Given the description of an element on the screen output the (x, y) to click on. 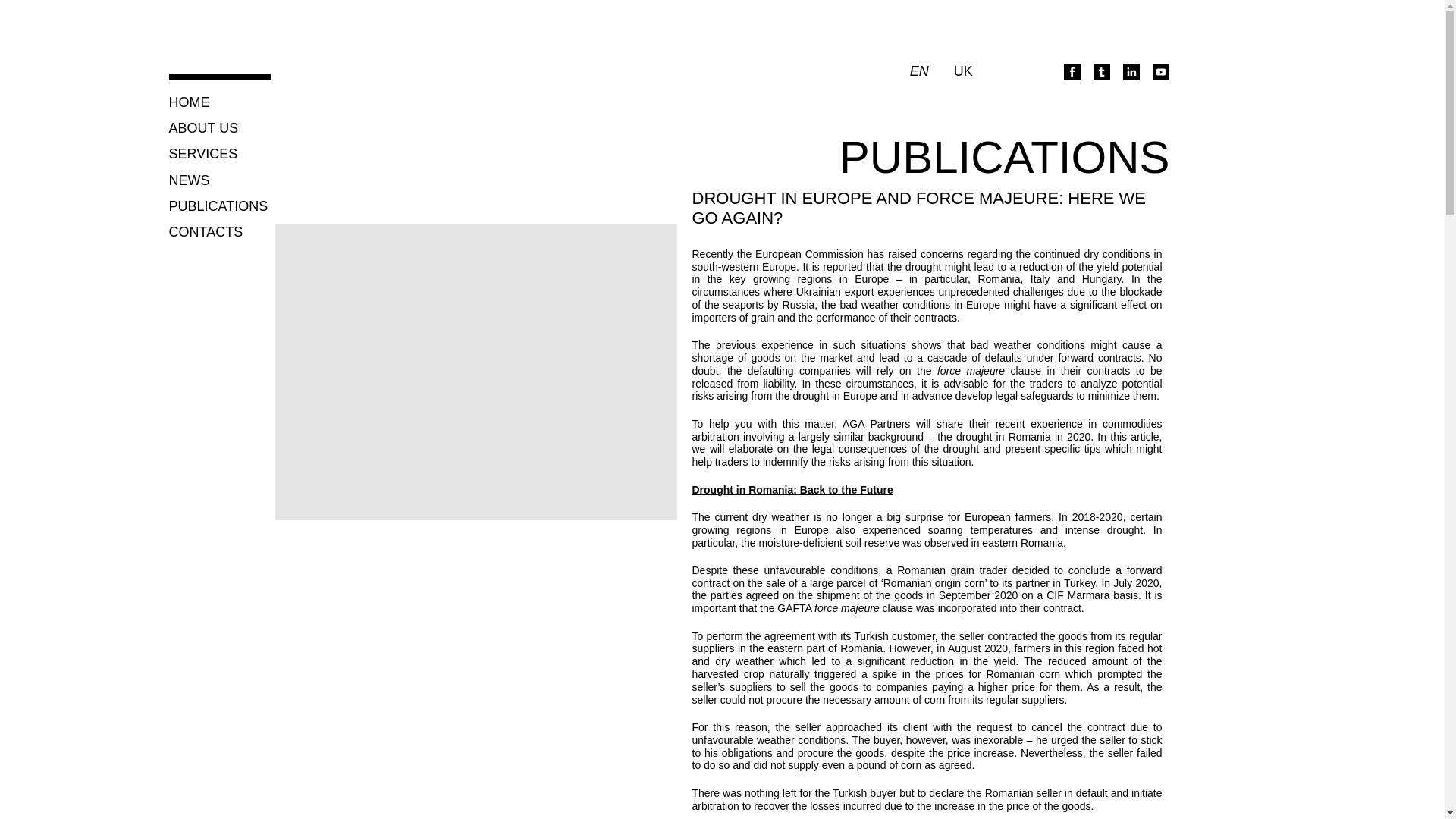
Services (202, 154)
PUBLICATIONS (217, 206)
Publications (217, 206)
ABOUT US (203, 128)
Home (188, 102)
UK (962, 71)
concerns (941, 254)
About us (203, 128)
NEWS (188, 180)
CONTACTS (205, 232)
News (188, 180)
Contacts (205, 232)
HOME (188, 102)
SERVICES (202, 154)
